Given the description of an element on the screen output the (x, y) to click on. 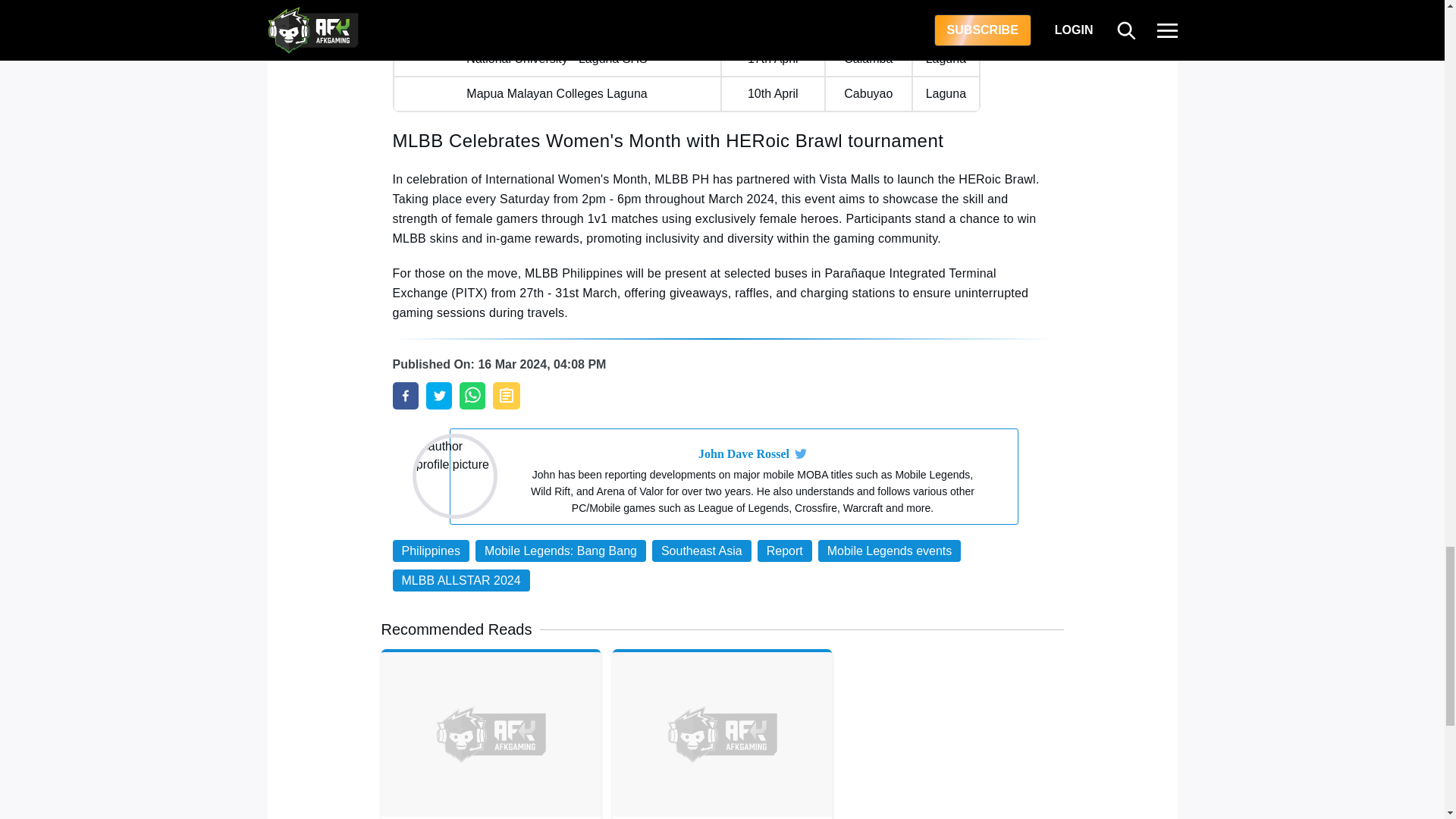
John Dave Rossel (743, 454)
Mobile Legends: Bang Bang (561, 550)
Philippines (430, 550)
Report (784, 550)
Southeast Asia (701, 550)
Mobile Legends events (889, 550)
MLBB ALLSTAR 2024 (461, 580)
